Given the description of an element on the screen output the (x, y) to click on. 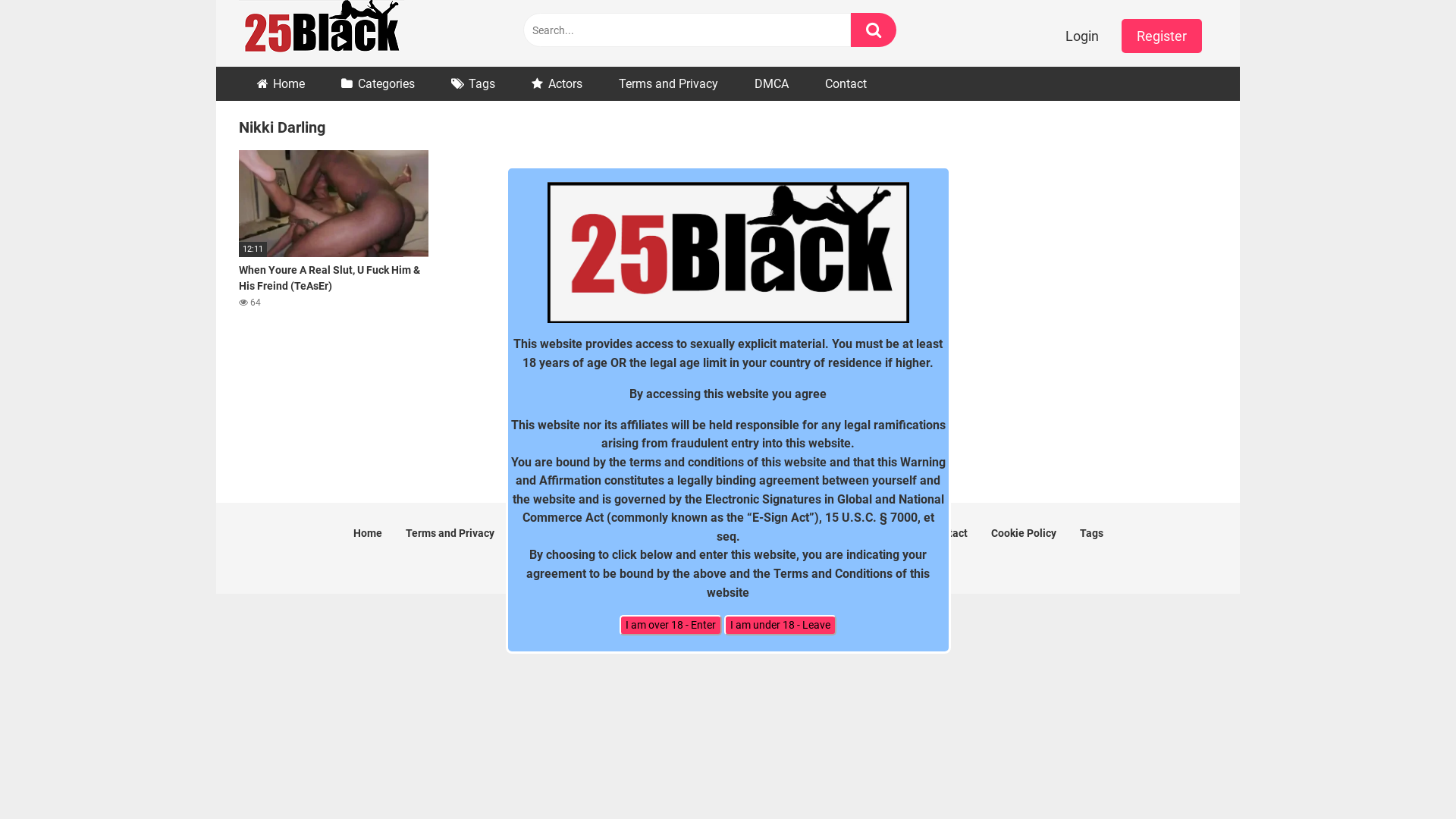
Contact Element type: text (948, 533)
DMCA Element type: text (771, 83)
DMCA Element type: text (531, 533)
Categories Element type: text (377, 83)
Actors Element type: text (556, 83)
Terms and Privacy Element type: text (448, 533)
Login Element type: text (1081, 35)
25 Black Element type: hover (321, 33)
Home Element type: text (280, 83)
I am over 18 - Enter Element type: text (670, 625)
Terms and Privacy Element type: text (668, 83)
I am under 18 - Leave Element type: text (780, 625)
Register Element type: text (1161, 35)
Tags Element type: text (1091, 533)
Cookie Policy Element type: text (1022, 533)
Contact Element type: text (845, 83)
Tags Element type: text (473, 83)
Home Element type: text (367, 533)
